Given the description of an element on the screen output the (x, y) to click on. 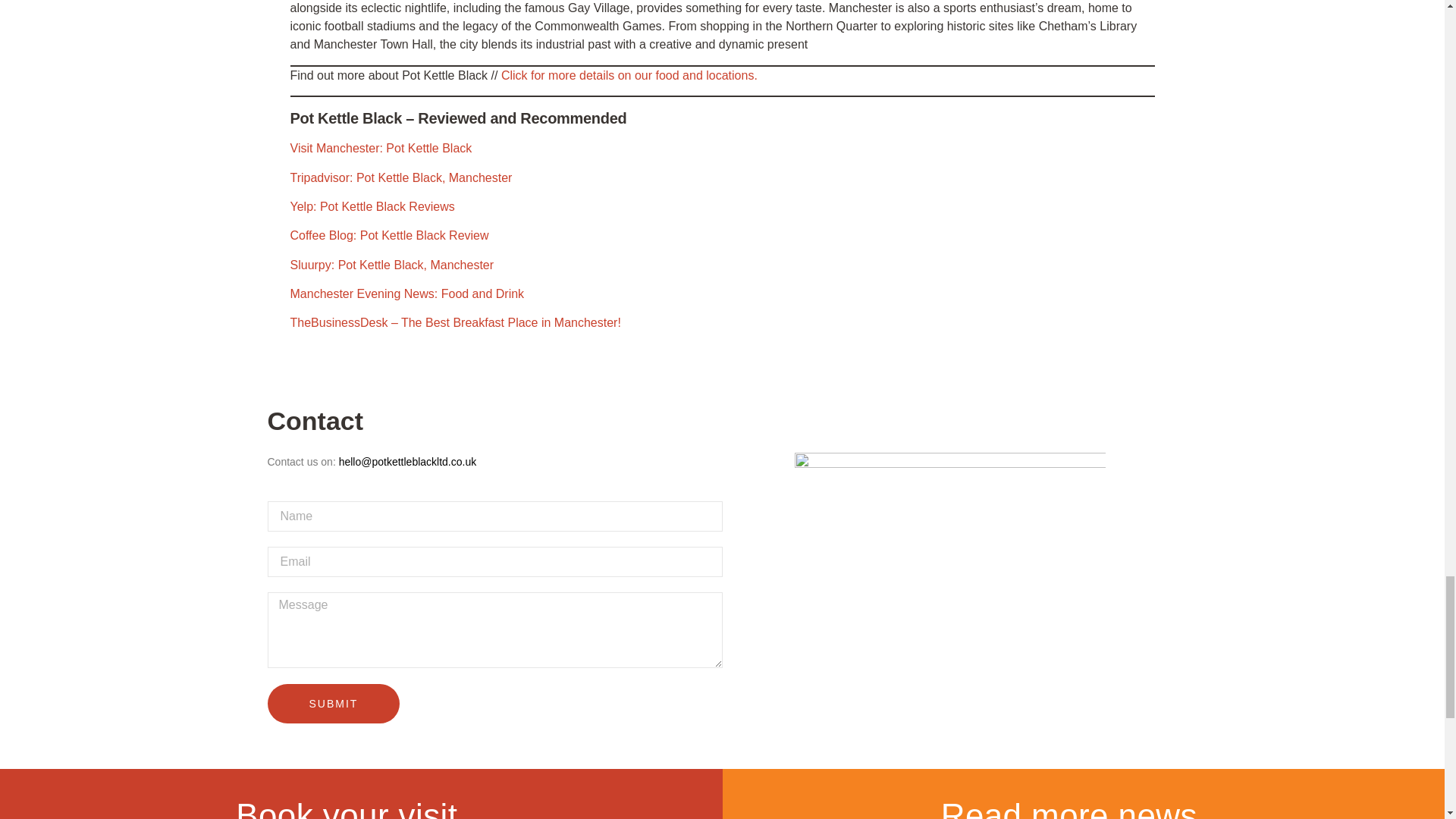
Visit Manchester: Pot Kettle Black (380, 147)
SUBMIT (332, 703)
Tripadvisor: Pot Kettle Black, Manchester (400, 177)
Yelp: Pot Kettle Black Reviews (371, 205)
Manchester Evening News: Food and Drink (406, 293)
Book your visit... (360, 807)
Read more news... (1082, 807)
Coffee Blog: Pot Kettle Black Review (388, 235)
Click for more details on our food and locations. (628, 74)
Sluurpy: Pot Kettle Black, Manchester (391, 264)
